Given the description of an element on the screen output the (x, y) to click on. 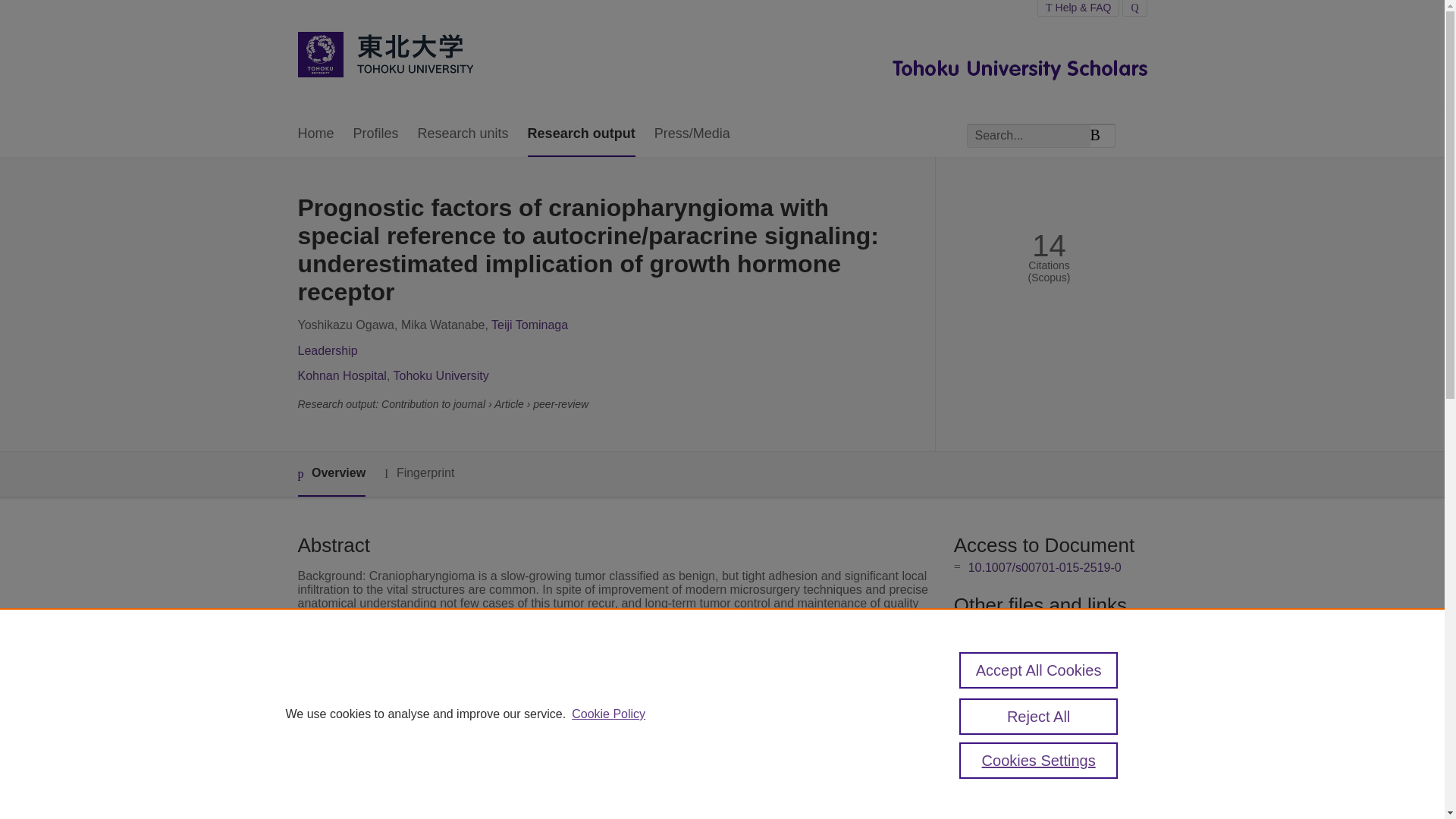
Link to publication in Scopus (1045, 626)
Fingerprint (419, 473)
Overview (331, 474)
Research units (462, 134)
Teiji Tominaga (529, 324)
Profiles (375, 134)
Tohoku University Home (384, 55)
Kohnan Hospital (341, 375)
Link to the citations in Scopus (1048, 652)
